Given the description of an element on the screen output the (x, y) to click on. 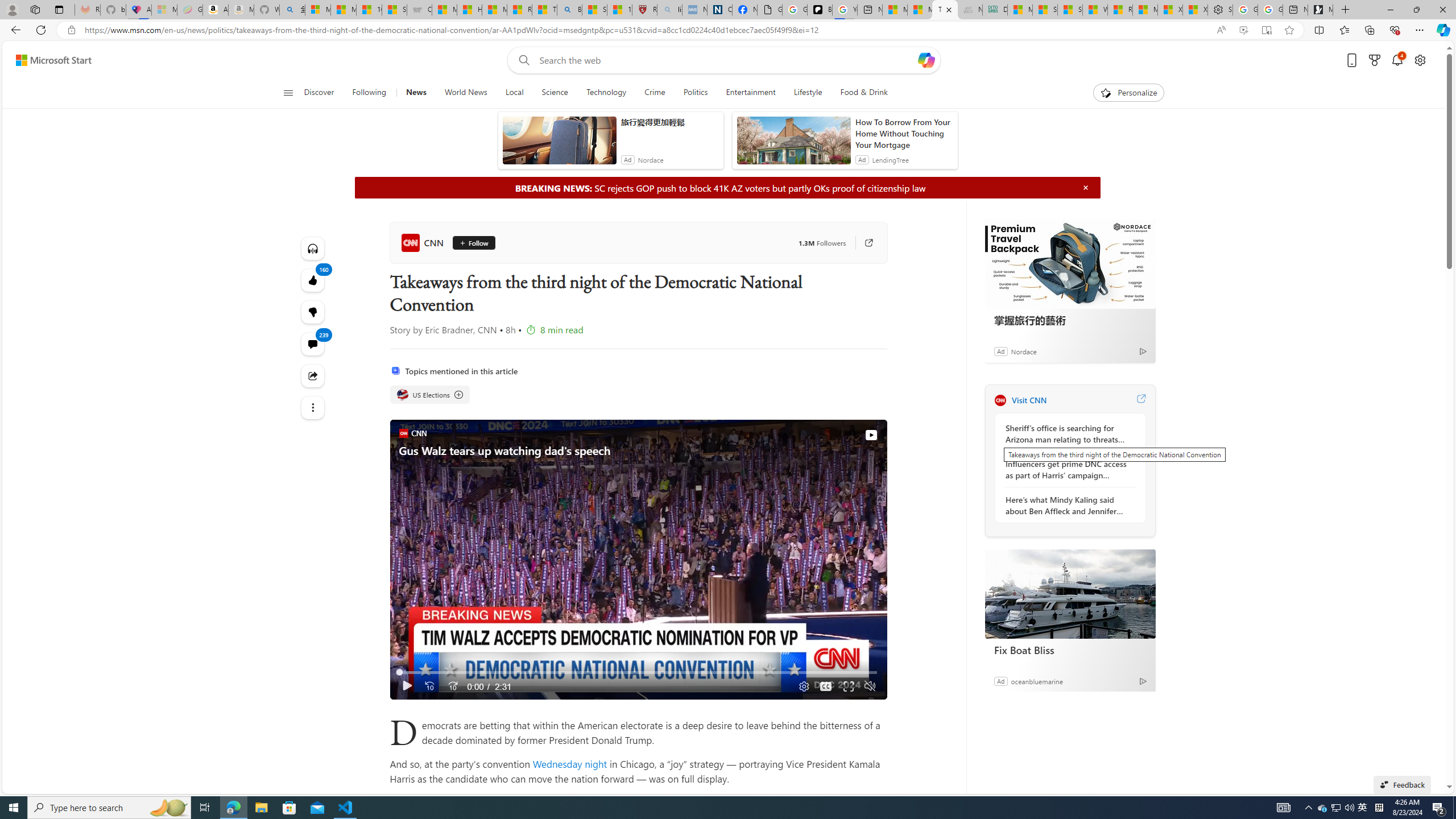
See more (312, 407)
US Elections US Elections US Elections (430, 394)
Microsoft account | Privacy (316, 9)
Recipes - MSN (519, 9)
Science (554, 92)
News (415, 92)
Stocks - MSN (1069, 9)
Fix Boat Bliss (1069, 649)
Captions (825, 686)
